Given the description of an element on the screen output the (x, y) to click on. 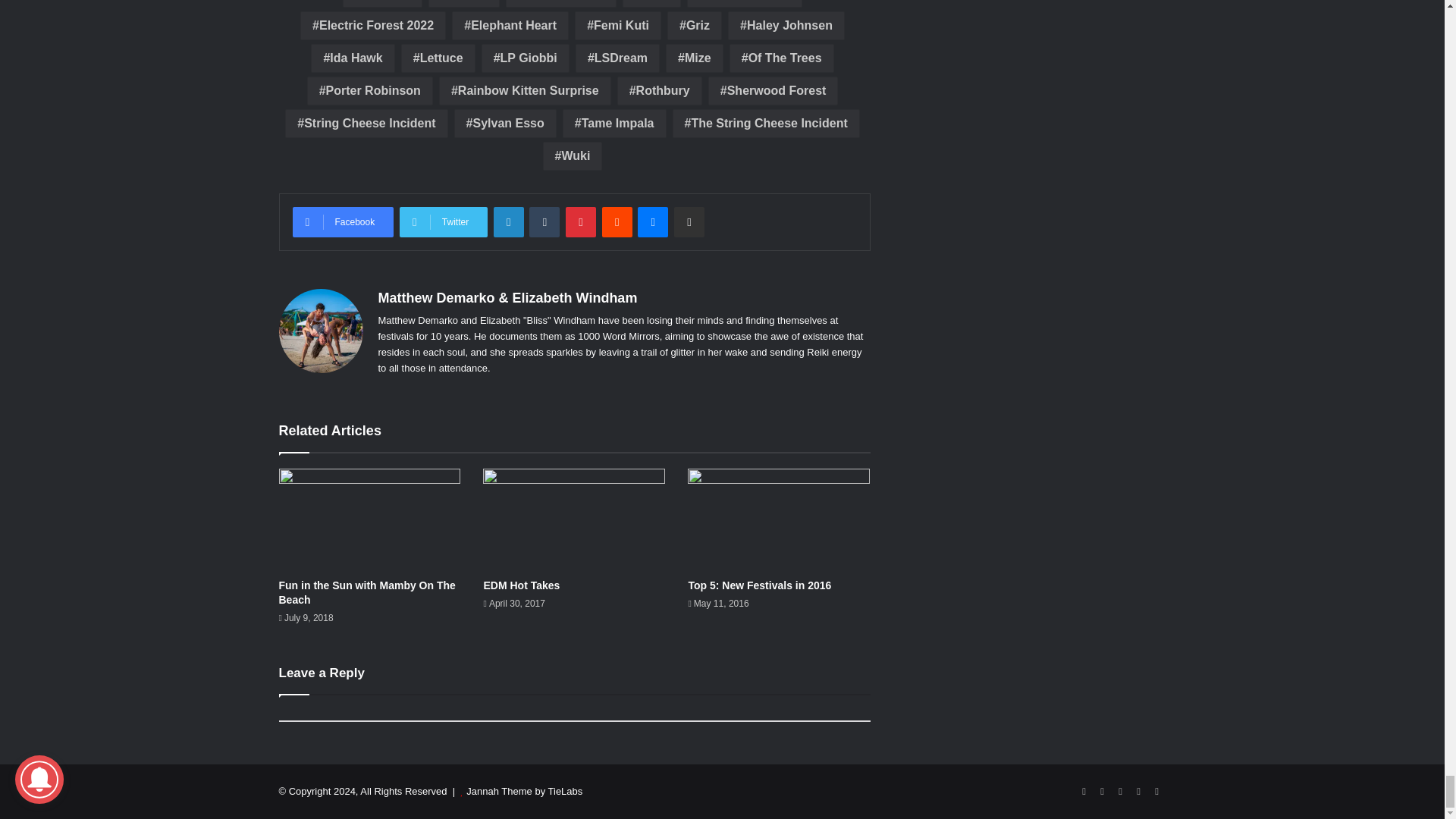
Messenger (652, 222)
Pinterest (580, 222)
Twitter (442, 222)
Reddit (616, 222)
LinkedIn (508, 222)
Facebook (343, 222)
Tumblr (544, 222)
